Given the description of an element on the screen output the (x, y) to click on. 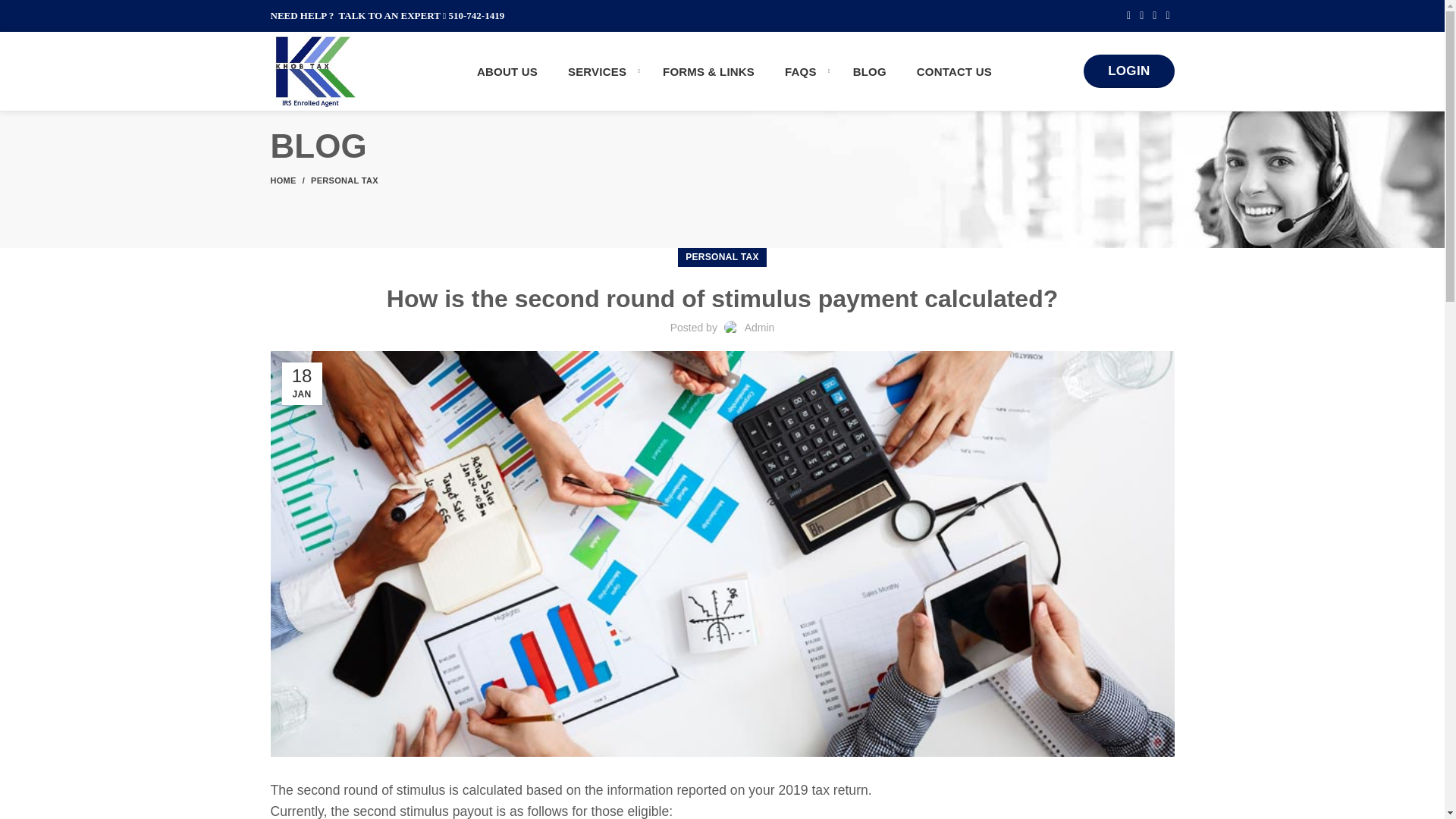
SERVICES (600, 71)
FAQS (804, 71)
510-742-1419 (476, 15)
Admin (759, 327)
ABOUT US (507, 71)
PERSONAL TAX (721, 257)
CONTACT US (954, 71)
PERSONAL TAX (344, 180)
LOGIN (1128, 70)
BLOG (869, 71)
